Given the description of an element on the screen output the (x, y) to click on. 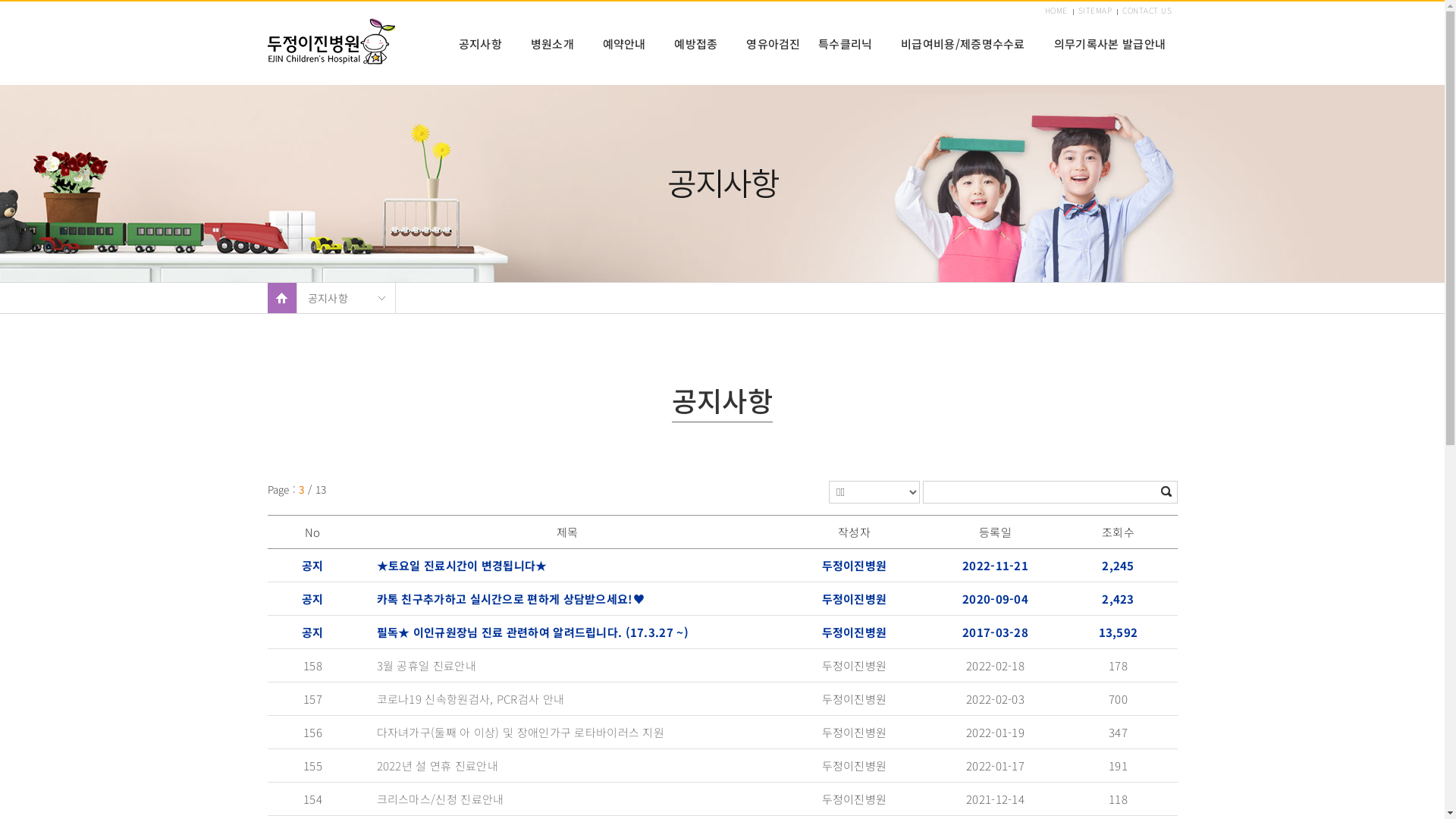
HOME Element type: text (1055, 10)
SITEMAP Element type: text (1095, 10)
CONTACT US Element type: text (1146, 10)
